Given the description of an element on the screen output the (x, y) to click on. 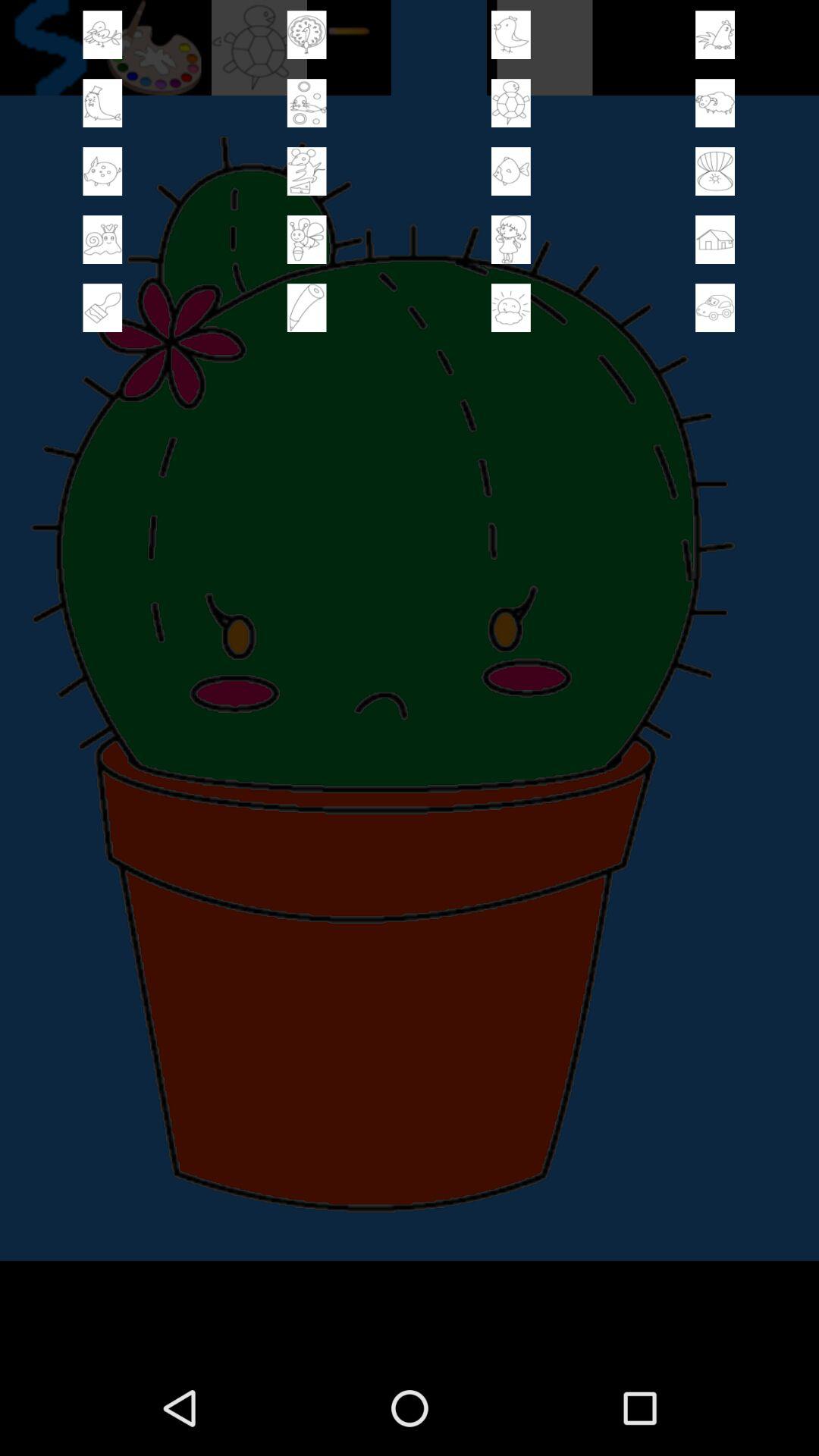
add sticker (510, 307)
